Given the description of an element on the screen output the (x, y) to click on. 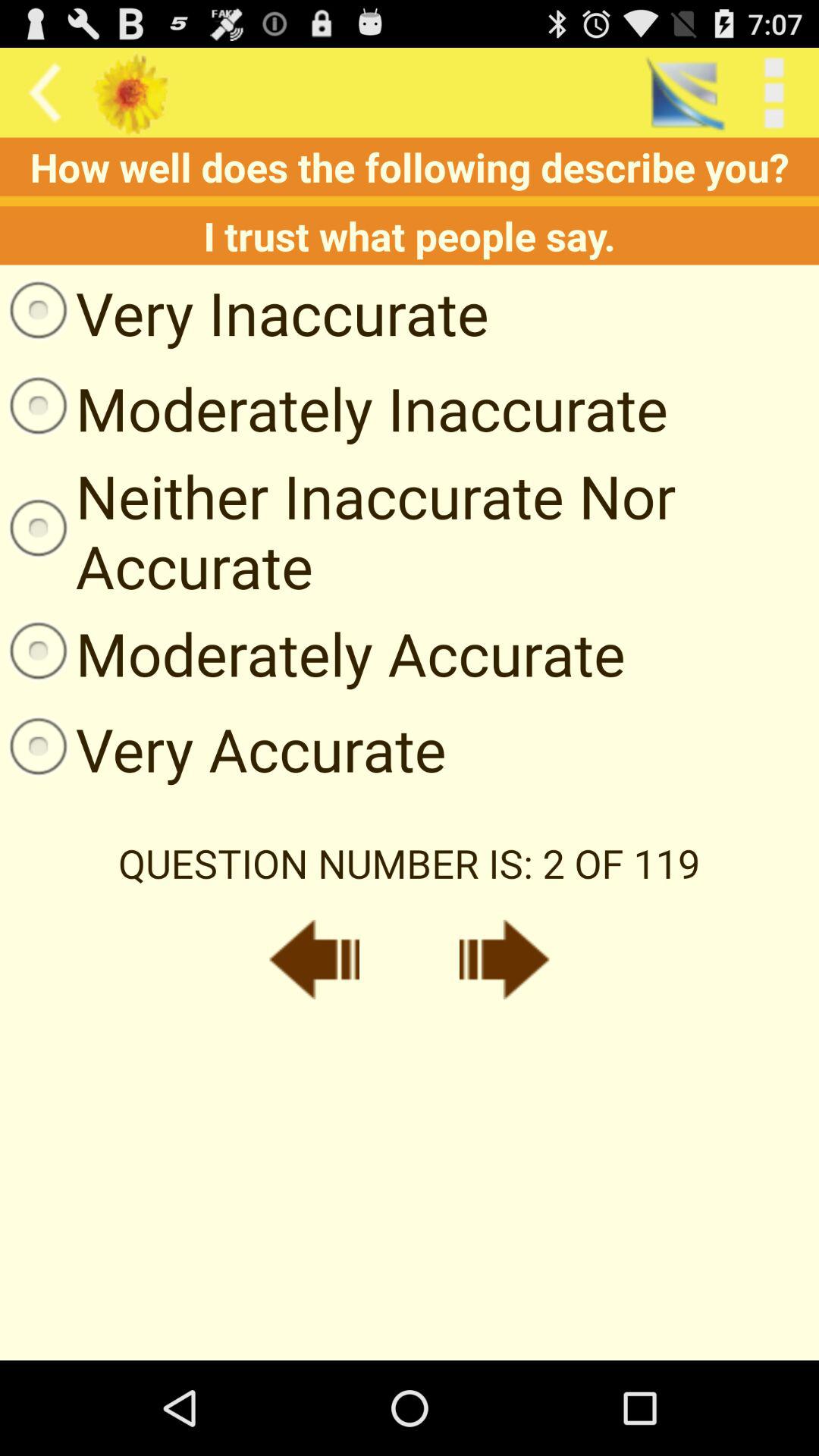
back (314, 959)
